Given the description of an element on the screen output the (x, y) to click on. 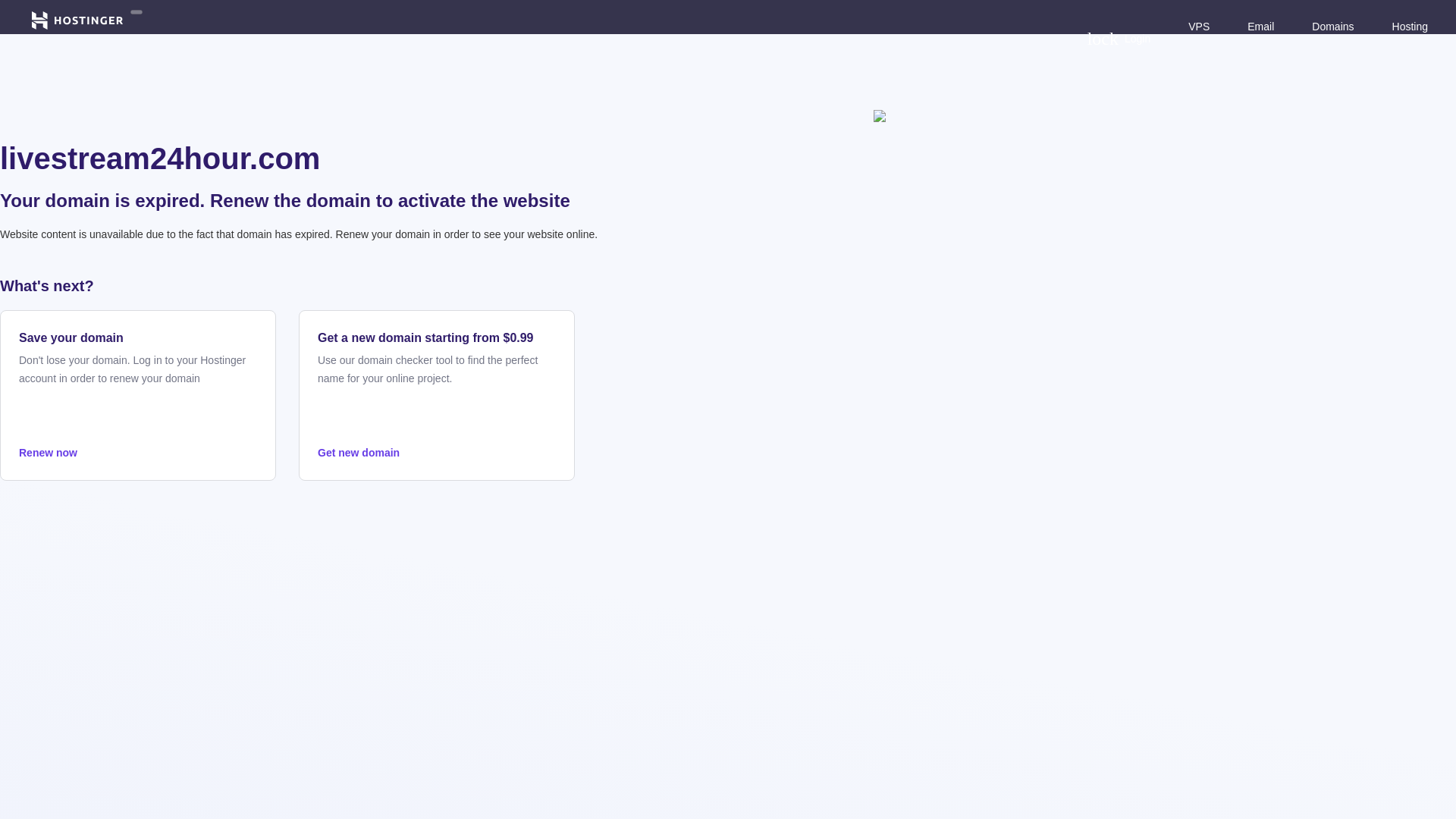
Get new domain (436, 452)
Domains (1331, 25)
Renew now (1118, 38)
Hosting (137, 452)
